Given the description of an element on the screen output the (x, y) to click on. 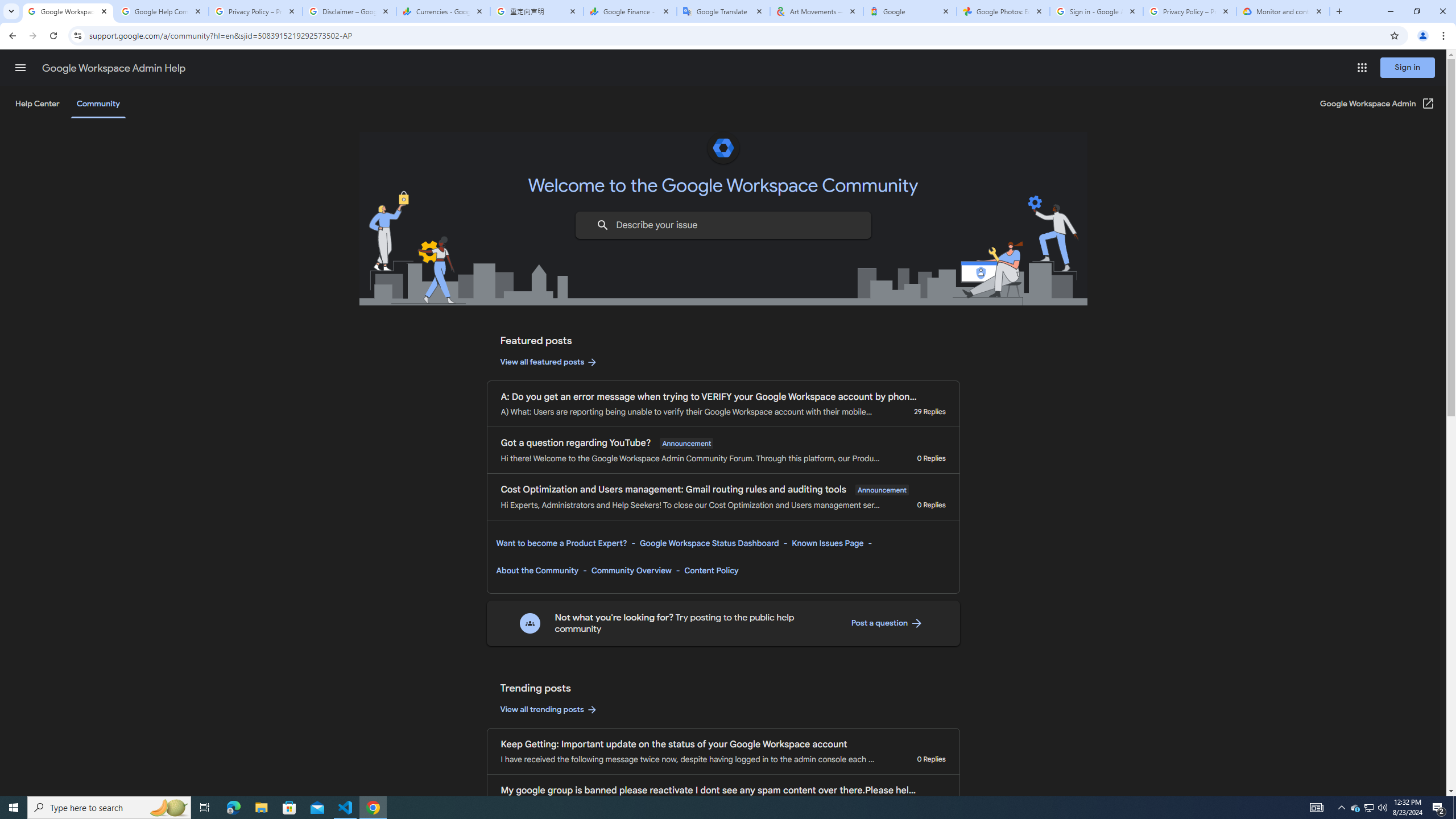
Community (97, 103)
Google Workspace Status Dashboard (708, 542)
Google Workspace Admin (Open in a new window) (1377, 103)
Search tabs (10, 11)
Known Issues Page (827, 542)
Sign in (1407, 67)
Want to become a Product Expert? (561, 542)
Describe your issue to find information that might help you. (722, 225)
Main menu (20, 67)
Content Policy (711, 570)
